Given the description of an element on the screen output the (x, y) to click on. 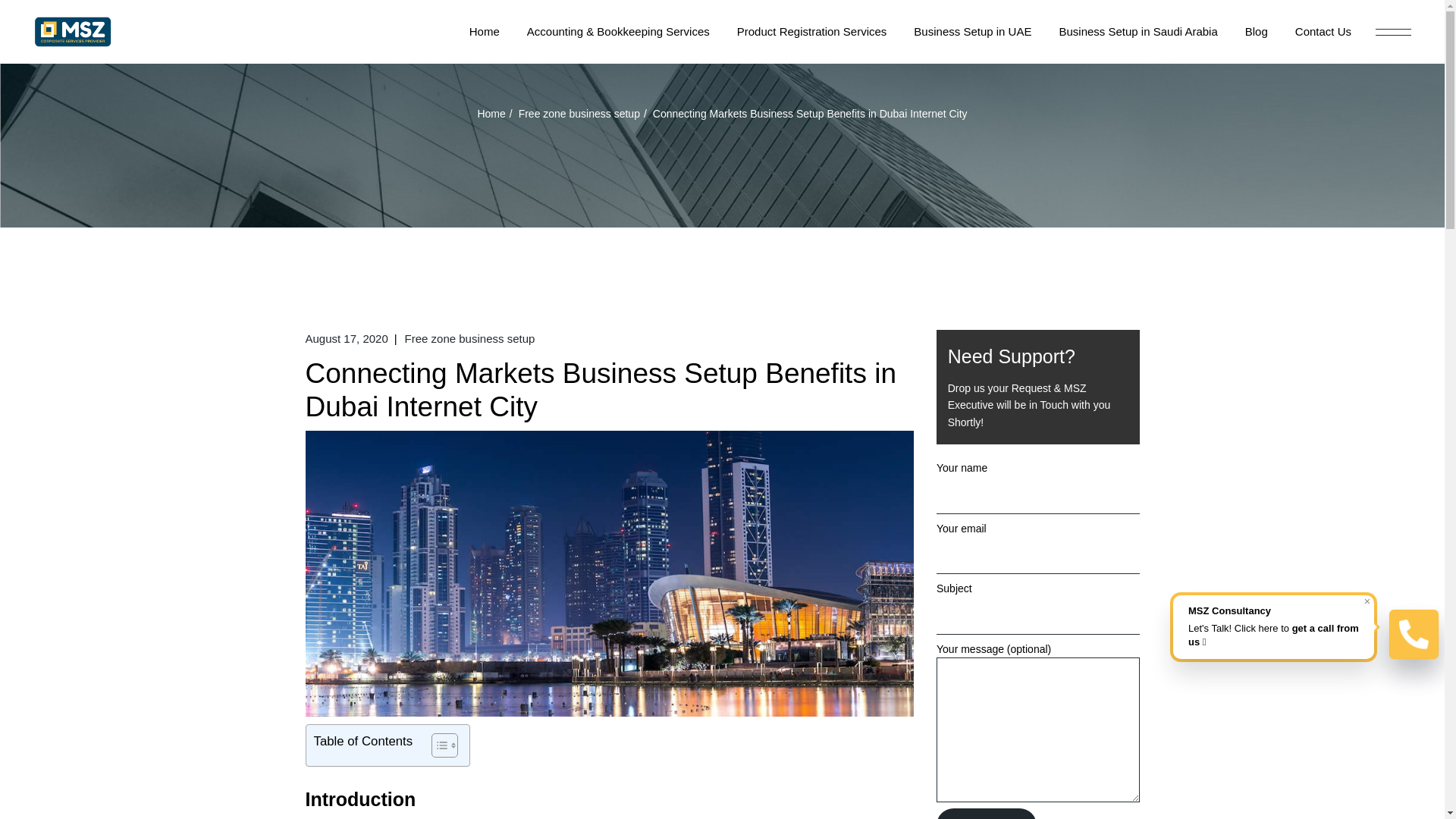
Business Setup in UAE (972, 31)
Product Registration Services (811, 31)
Free zone business setup (469, 339)
August 17, 2020 (345, 339)
Business Setup in Saudi Arabia (1137, 31)
Free zone business setup (579, 113)
Home (491, 113)
